Given the description of an element on the screen output the (x, y) to click on. 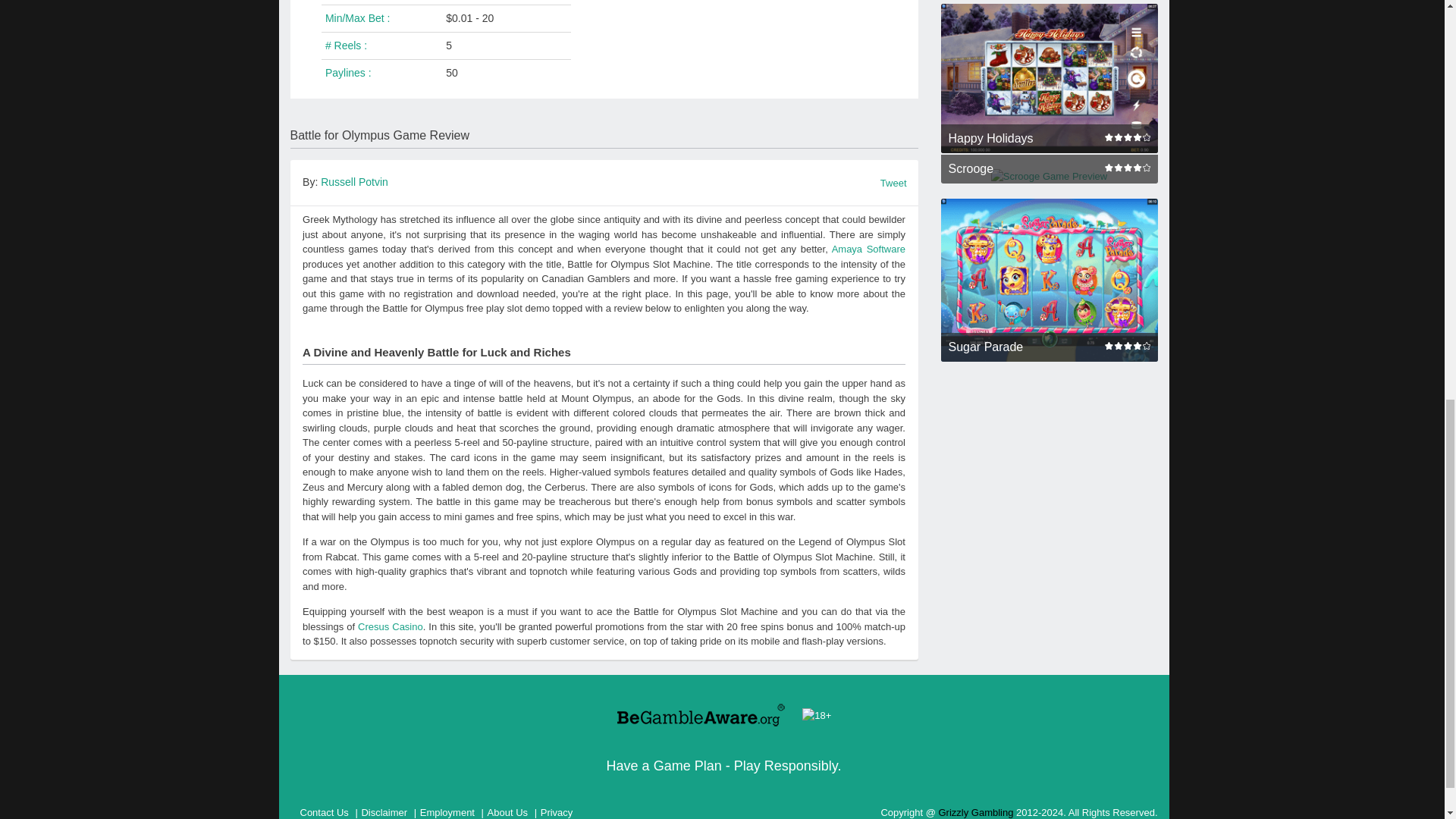
Scrooge Game Preview (1048, 176)
Sugar Parade Game Preview (1048, 280)
Happy Holidays Game Preview (1048, 78)
